Given the description of an element on the screen output the (x, y) to click on. 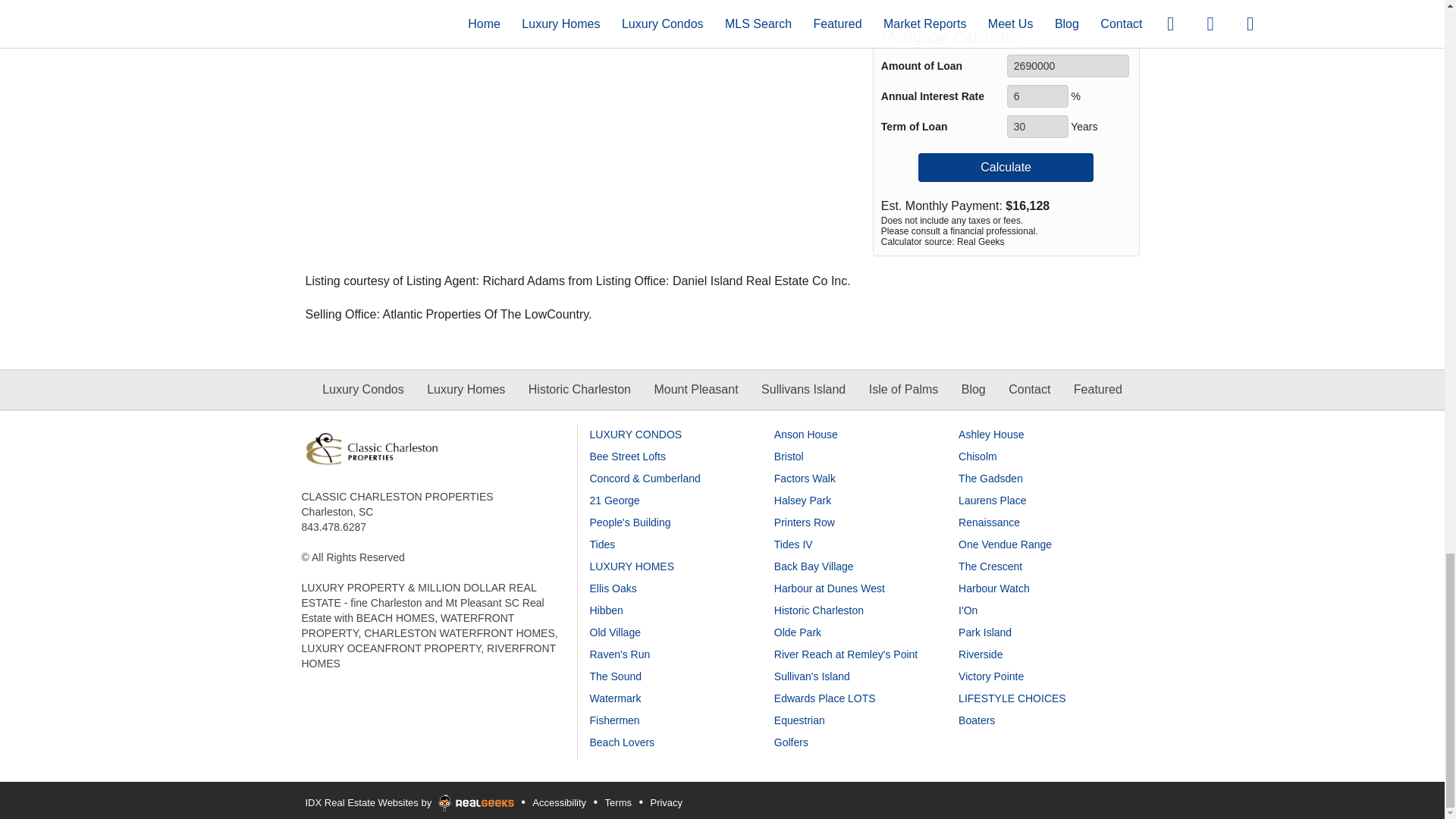
6 (1037, 96)
30 (1037, 126)
2690000 (1068, 65)
